Given the description of an element on the screen output the (x, y) to click on. 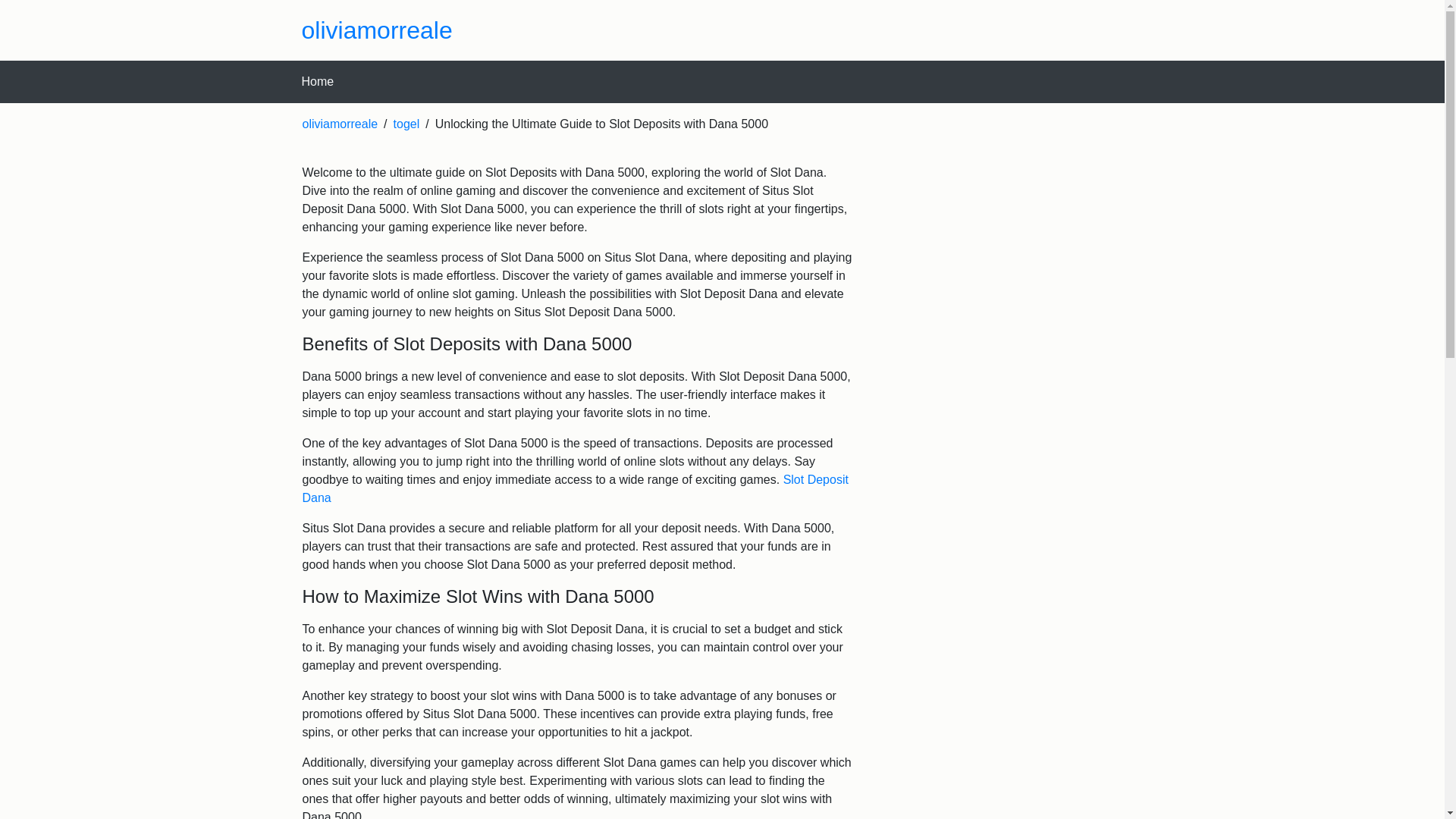
Home (317, 81)
Slot Deposit Dana (574, 488)
oliviamorreale (376, 30)
oliviamorreale (339, 123)
togel (406, 123)
